Given the description of an element on the screen output the (x, y) to click on. 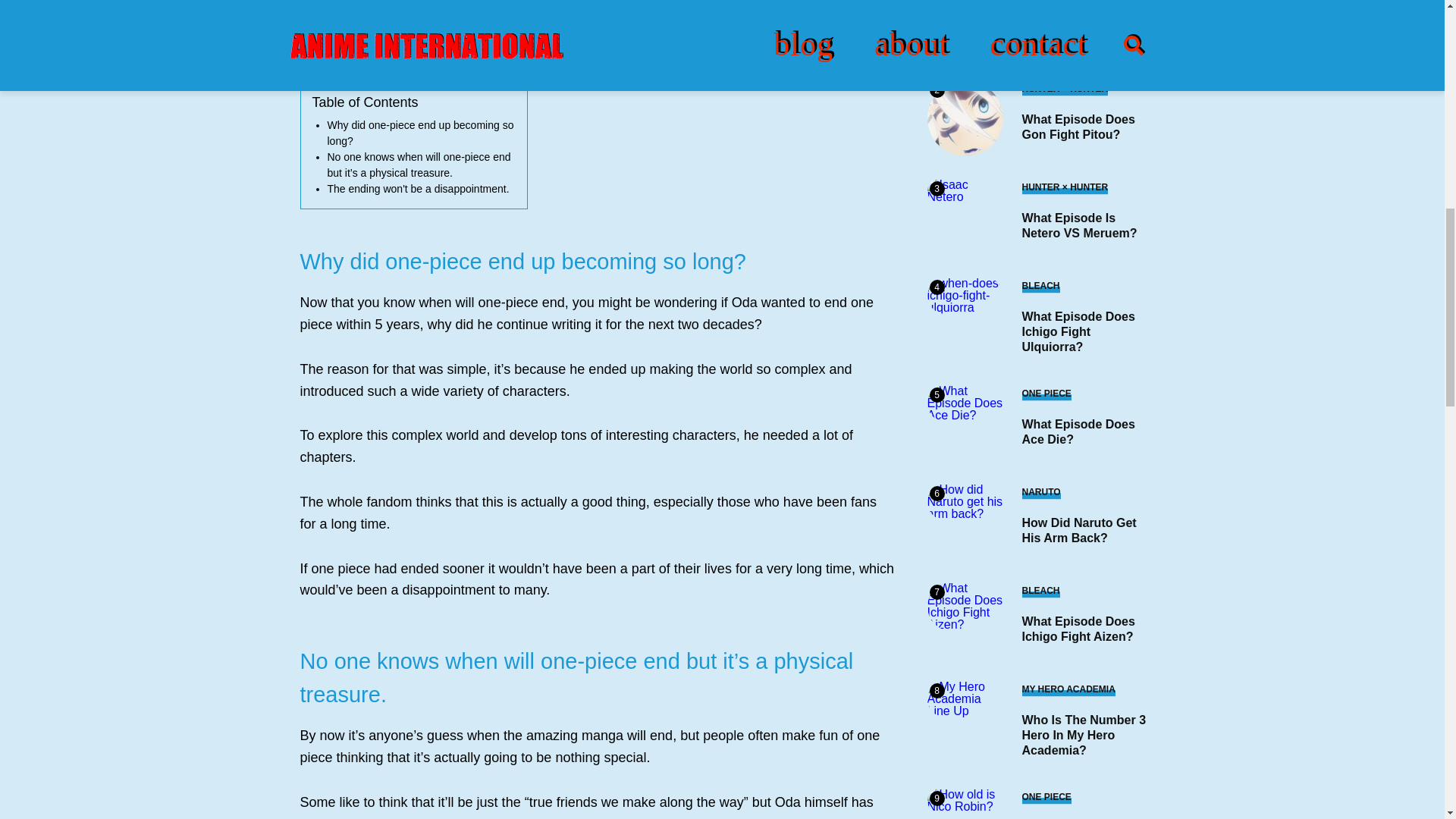
The ending won't be a disappointment. (418, 188)
Why did one-piece end up becoming so long? (420, 132)
READ MORE BLOGS ABOUT ONE PIECE (423, 50)
